Given the description of an element on the screen output the (x, y) to click on. 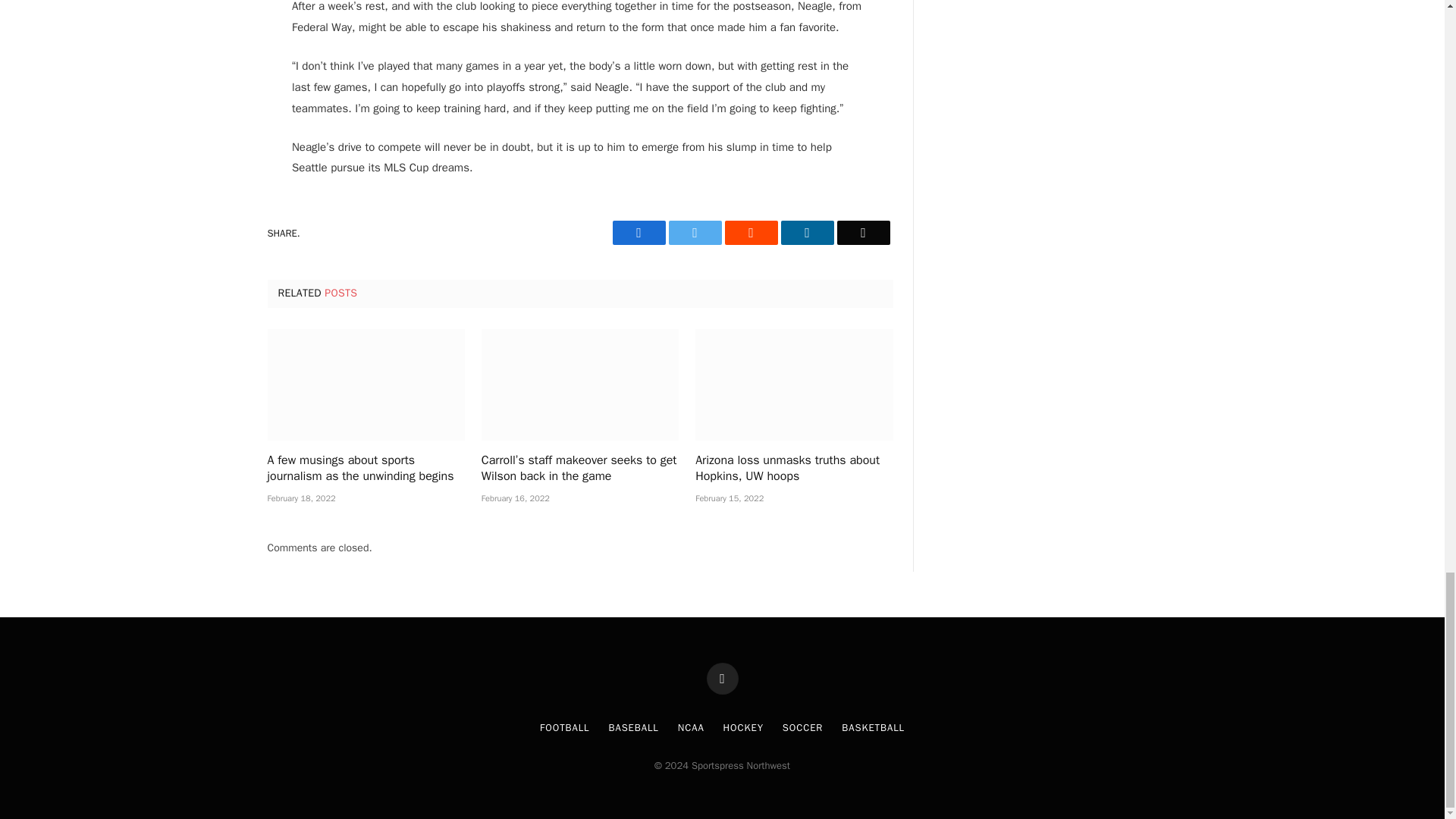
Reddit (751, 232)
Facebook (638, 232)
Email (863, 232)
Twitter (695, 232)
LinkedIn (807, 232)
